Given the description of an element on the screen output the (x, y) to click on. 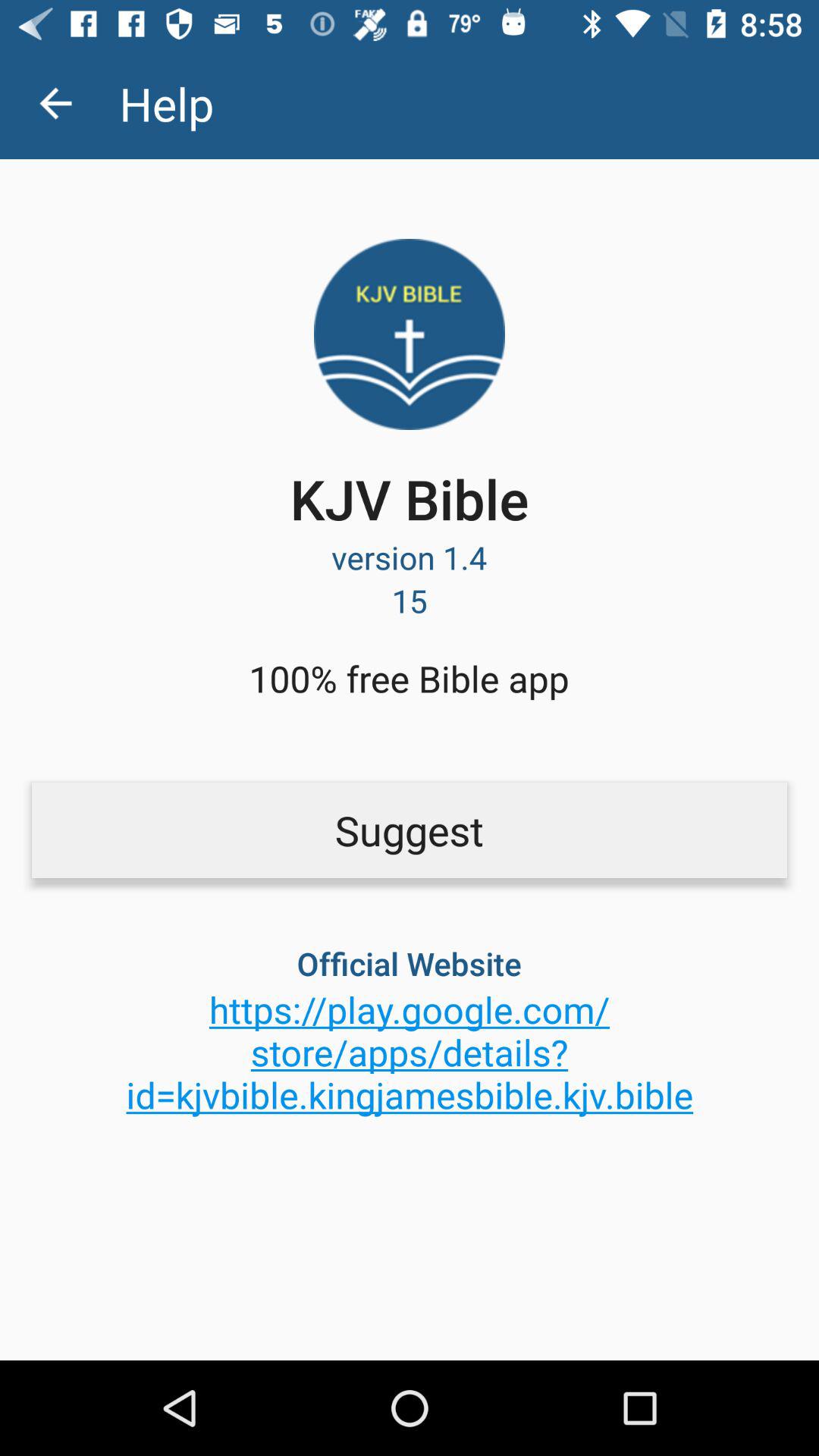
press icon to the left of help item (55, 103)
